Given the description of an element on the screen output the (x, y) to click on. 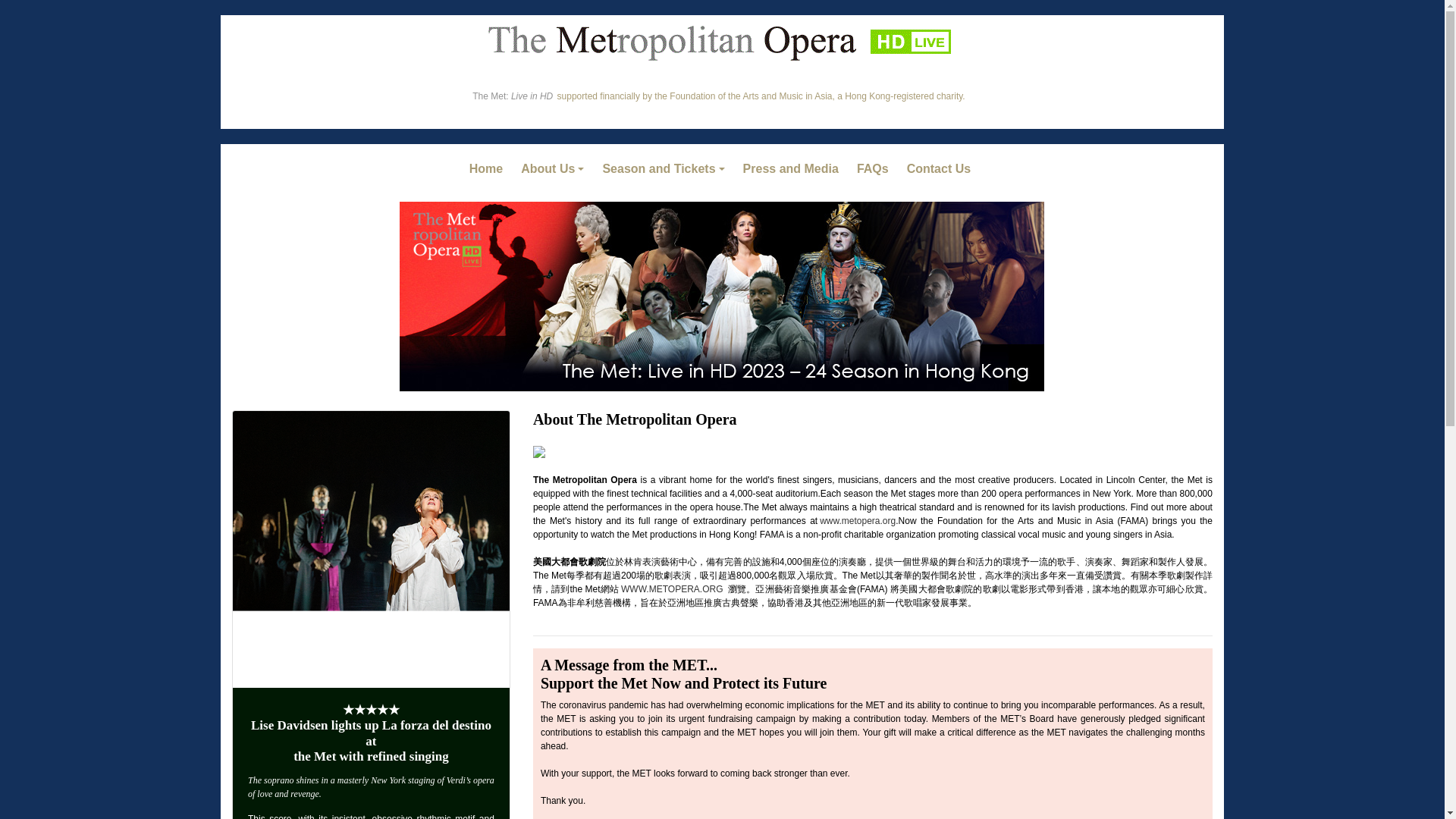
Press and Media (793, 168)
WWW.METOPERA.ORG (670, 588)
FAQs (874, 168)
About Us (555, 168)
Season and Tickets (665, 168)
Coming Soon! (793, 168)
Home (488, 168)
www.metopera.org (855, 520)
Contact Us (941, 168)
